Given the description of an element on the screen output the (x, y) to click on. 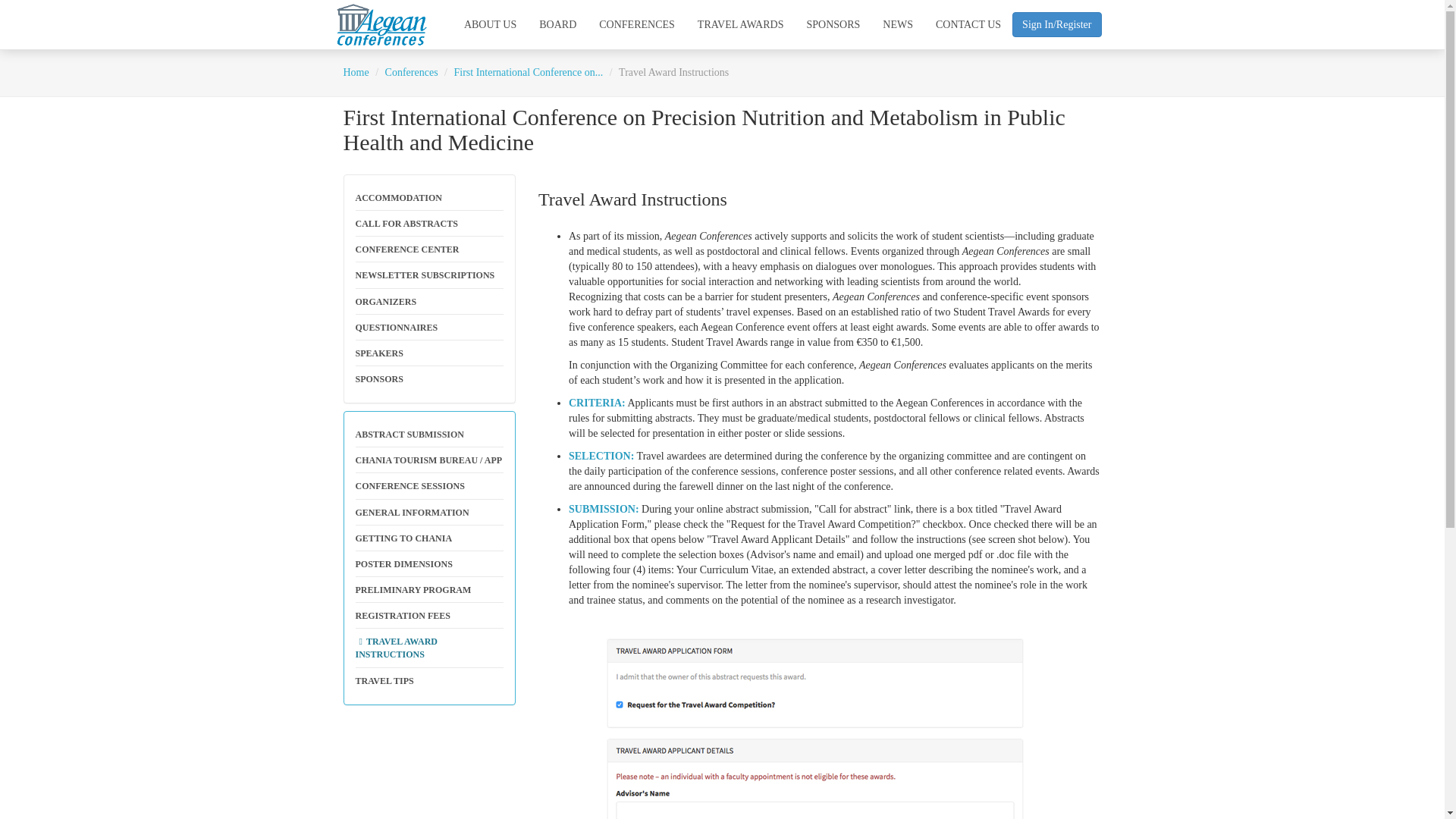
GETTING TO CHANIA (429, 538)
ORGANIZERS (429, 301)
ABSTRACT SUBMISSION (429, 434)
View Sponsors (429, 379)
Conferences (411, 71)
SPONSORS (429, 379)
TRAVEL AWARD INSTRUCTIONS (429, 647)
CONFERENCE CENTER (429, 249)
TRAVEL AWARDS (739, 24)
ABOUT US (489, 24)
